Given the description of an element on the screen output the (x, y) to click on. 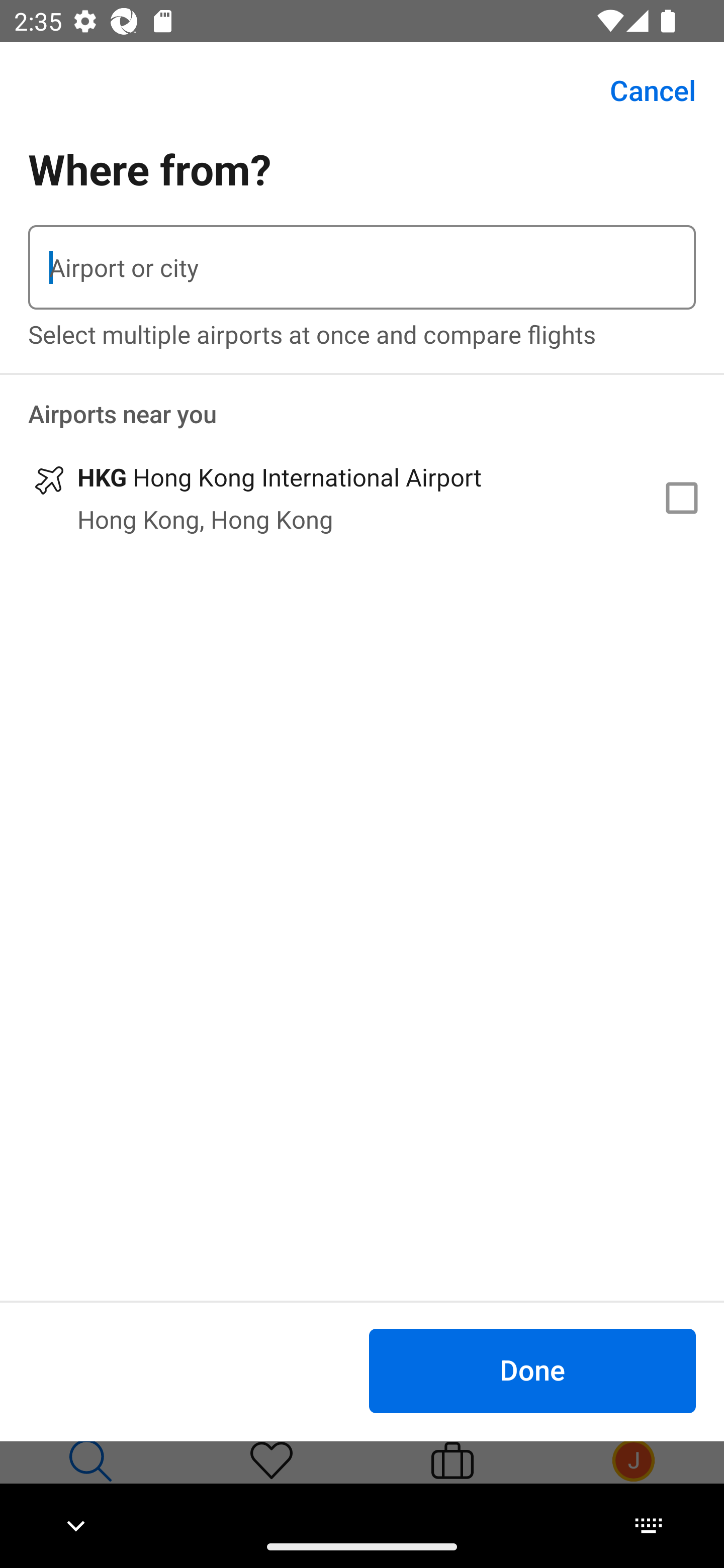
Cancel (641, 90)
Airport or city (361, 266)
Done (532, 1370)
